Given the description of an element on the screen output the (x, y) to click on. 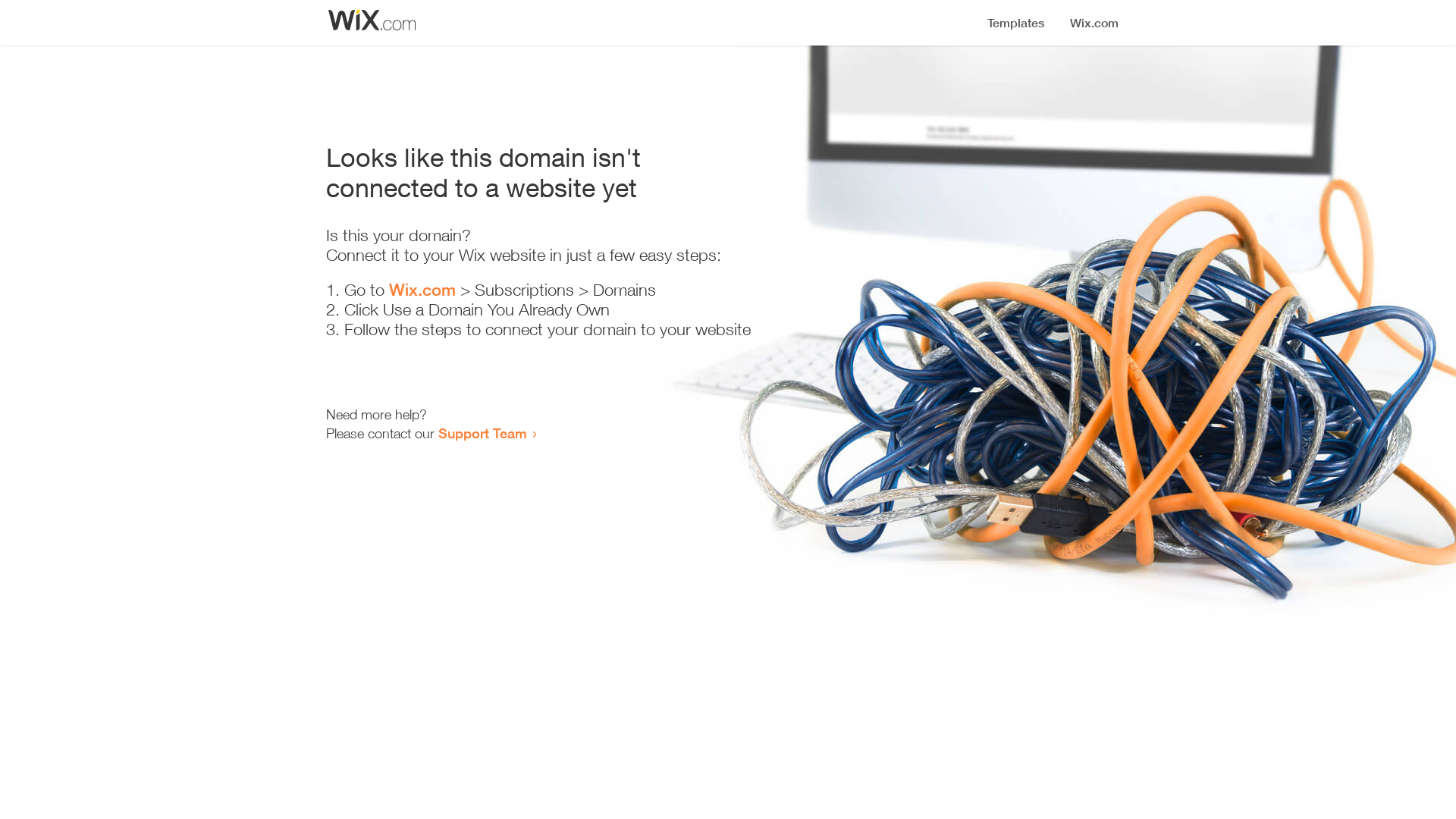
Support Team Element type: text (482, 432)
Wix.com Element type: text (422, 289)
